Given the description of an element on the screen output the (x, y) to click on. 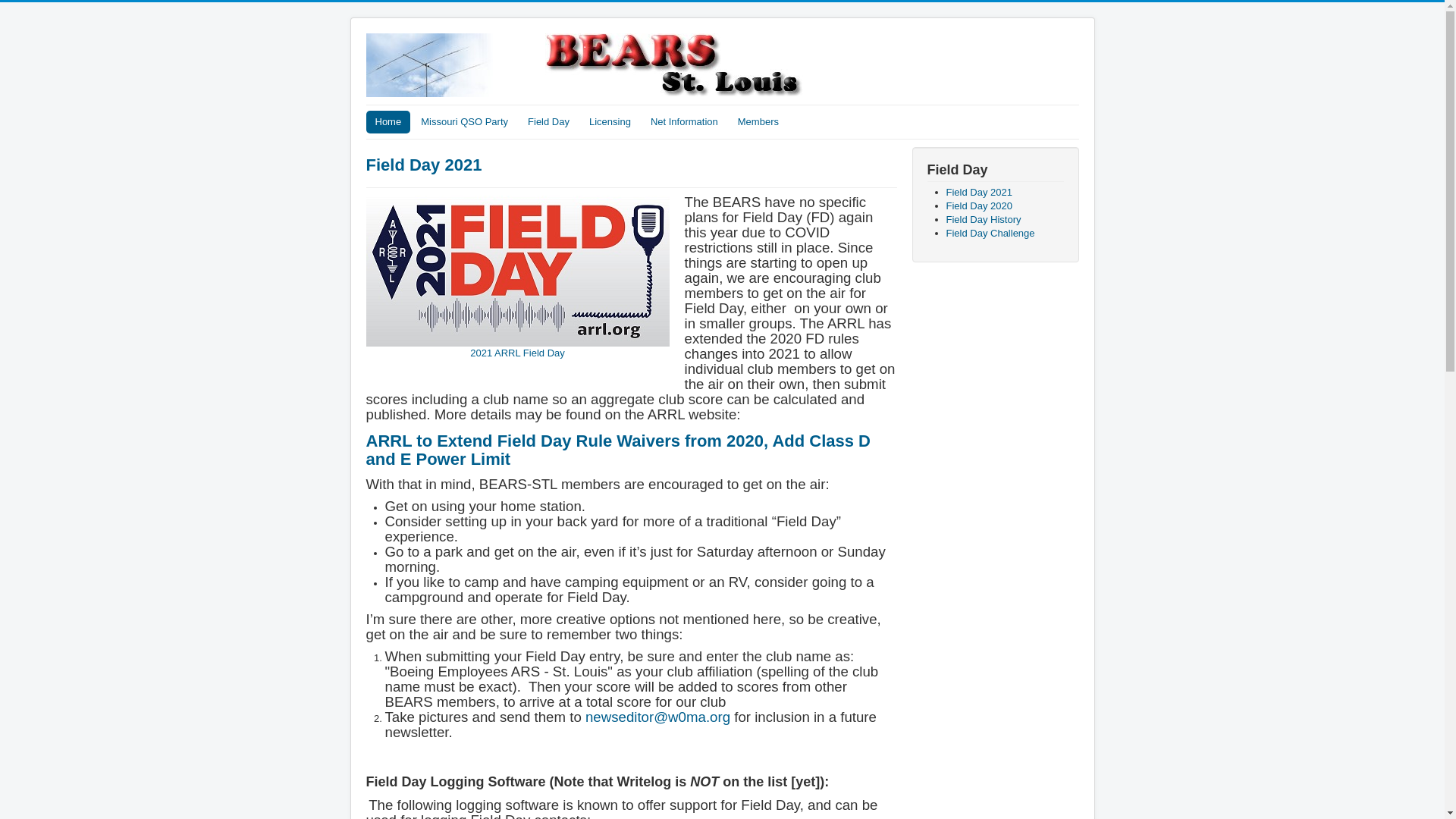
Home (387, 121)
Field Day 2021 (423, 164)
Net Information (684, 121)
2021 ARRL Field Day (516, 270)
Licensing (609, 121)
Members (758, 121)
Field Day 2020 (978, 205)
2021 ARRL Field Day (516, 277)
Missouri QSO Party (464, 121)
Field Day 2021 (978, 192)
